Given the description of an element on the screen output the (x, y) to click on. 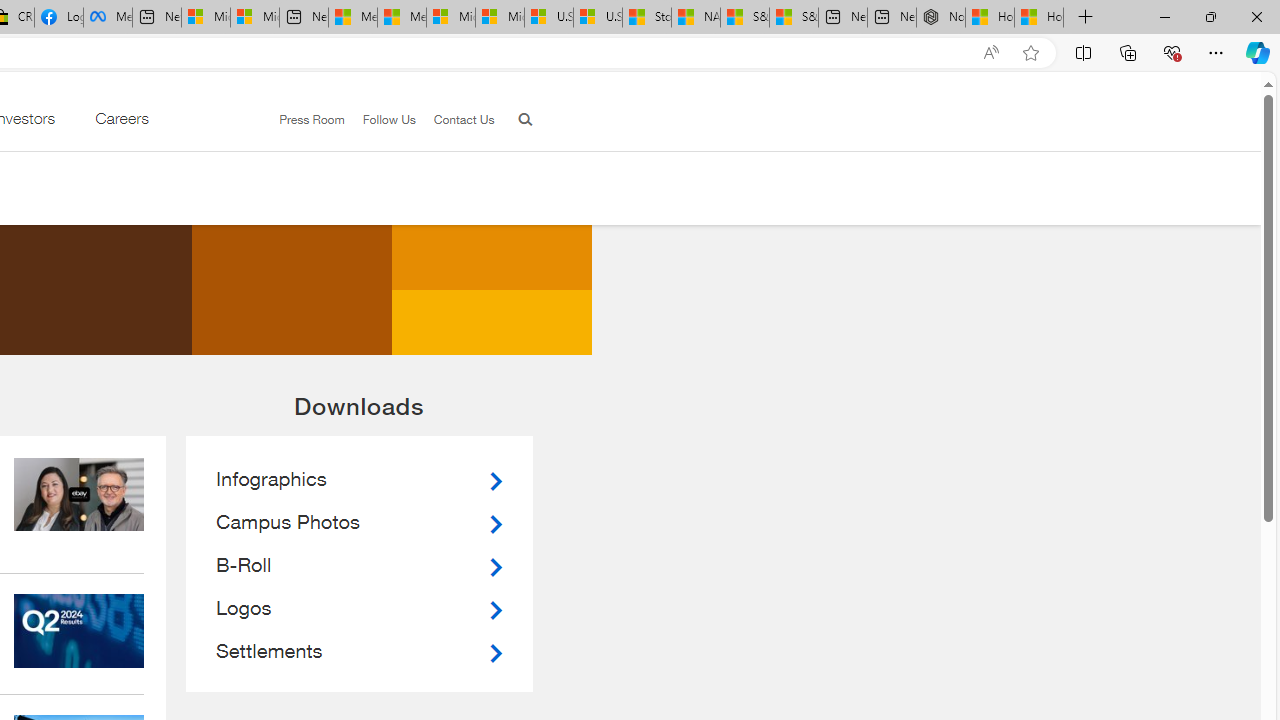
Close (1256, 16)
Settings and more (Alt+F) (1215, 52)
Microsoft account | Privacy (254, 17)
Browser essentials (1171, 52)
Minimize (1164, 16)
